Given the description of an element on the screen output the (x, y) to click on. 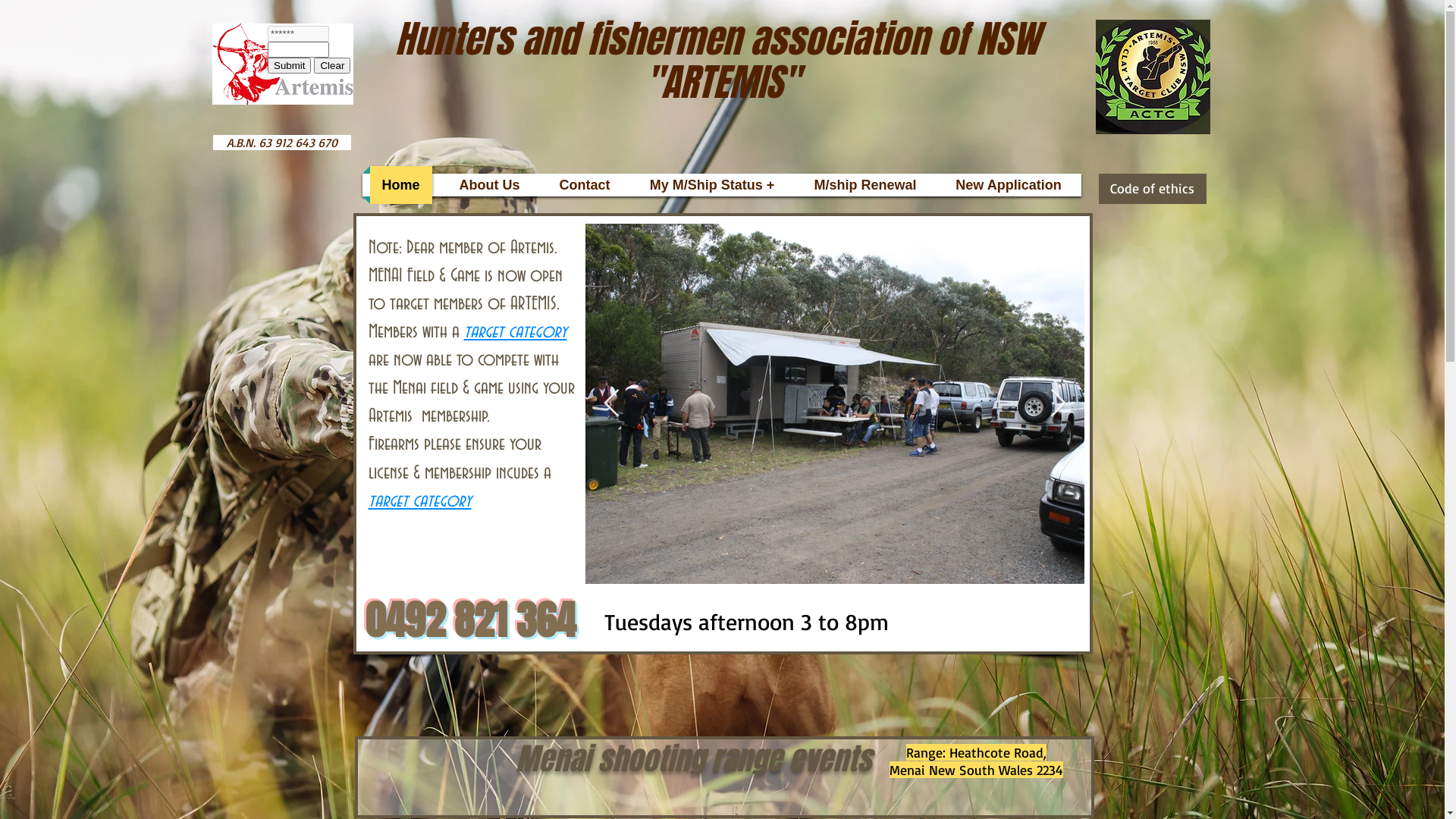
M/ship Renewal Element type: text (865, 184)
My M/Ship Status + Element type: text (711, 184)
Embedded Content Element type: hover (310, 60)
Code of ethics Element type: text (1151, 188)
Contact Element type: text (584, 184)
About Us Element type: text (489, 184)
New Application Element type: text (1007, 184)
Home Element type: text (400, 184)
